Given the description of an element on the screen output the (x, y) to click on. 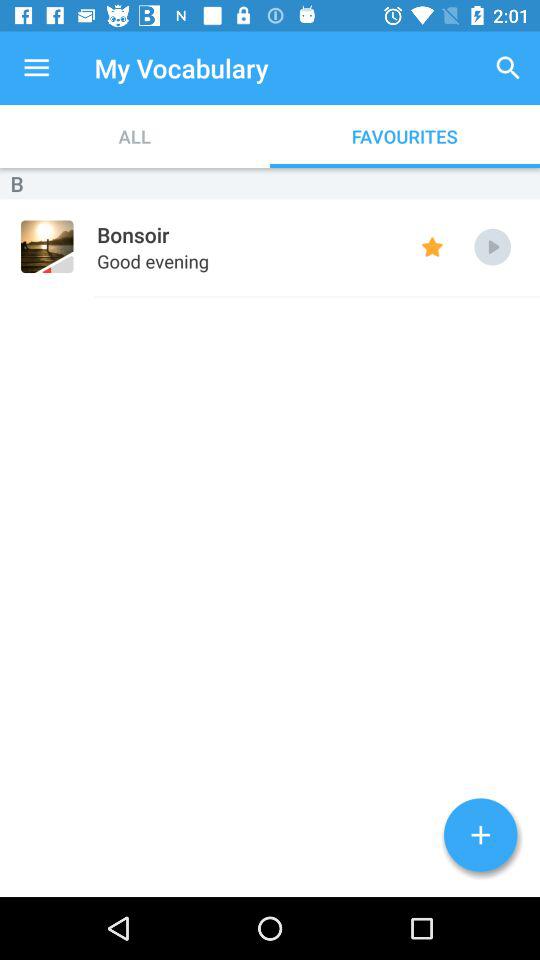
select star (432, 246)
